Given the description of an element on the screen output the (x, y) to click on. 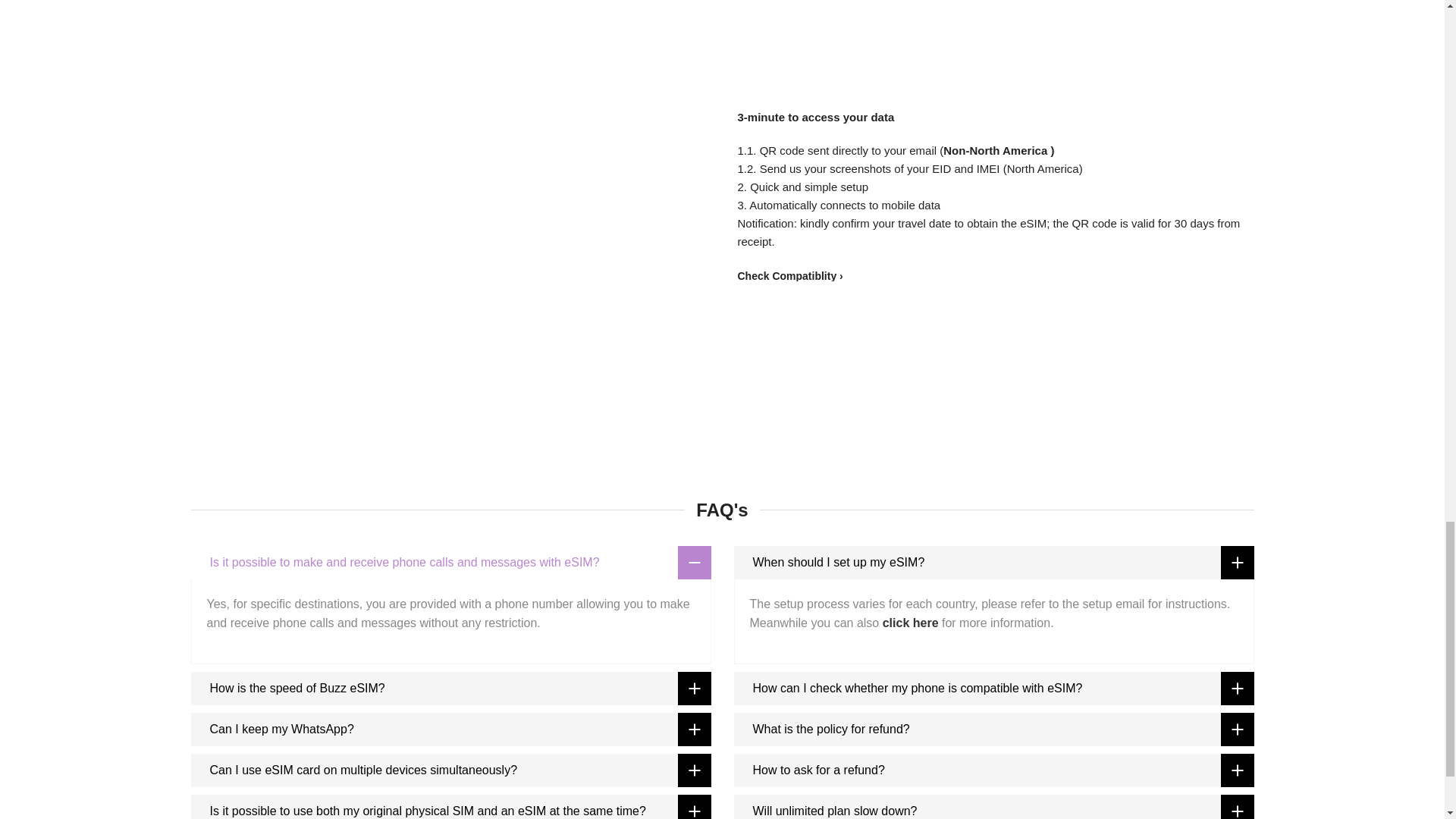
How to set up eSIM (912, 622)
What is the policy for refund? (993, 729)
When should I set up my eSIM? (993, 562)
Can I use eSIM card on multiple devices simultaneously? (450, 770)
How can I check whether my phone is compatible with eSIM? (993, 688)
Can I keep my WhatsApp? (450, 729)
Will unlimited plan slow down? (993, 806)
How is the speed of Buzz eSIM? (450, 688)
